Given the description of an element on the screen output the (x, y) to click on. 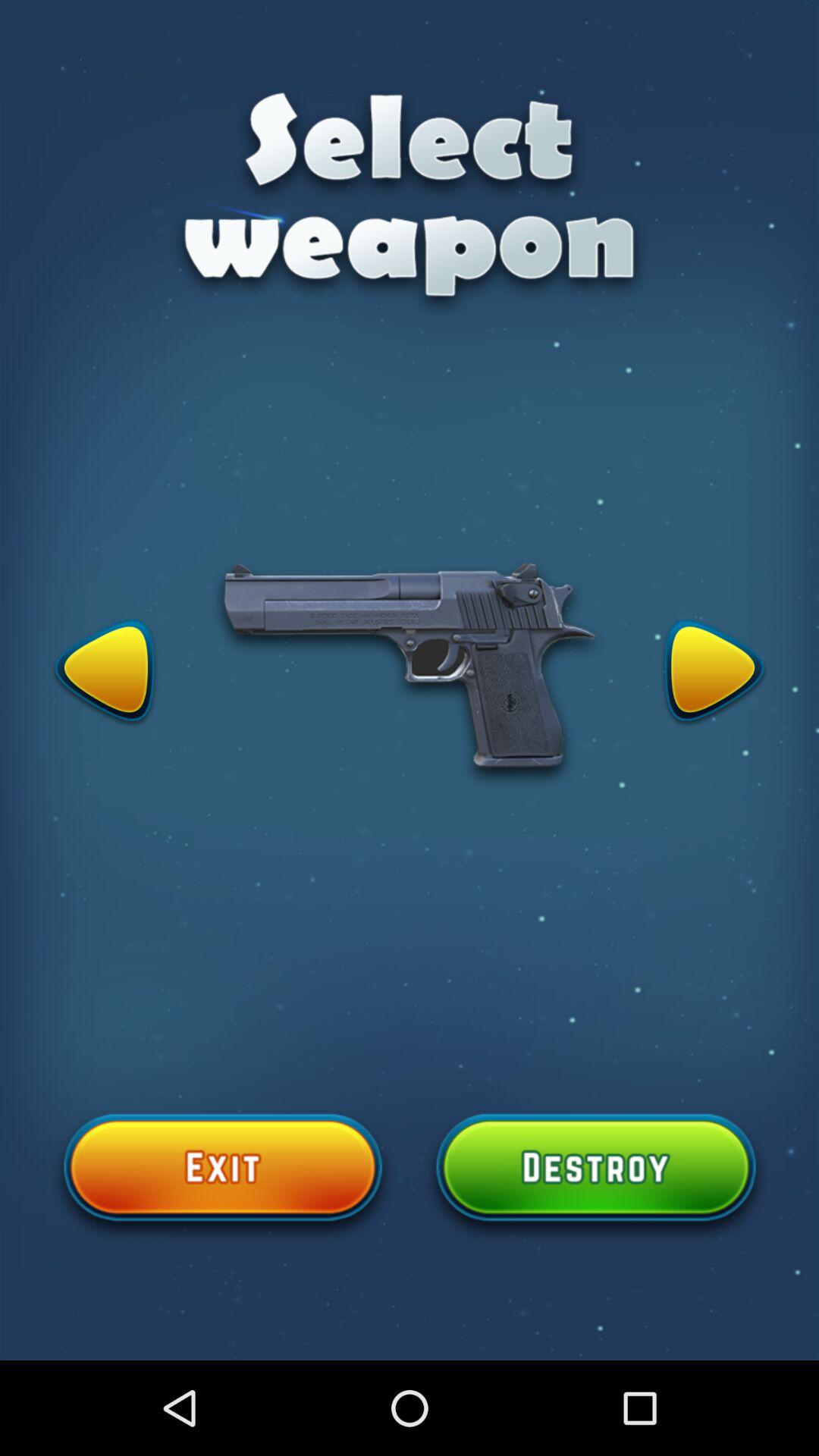
confirm selected weapon (595, 1176)
